Given the description of an element on the screen output the (x, y) to click on. 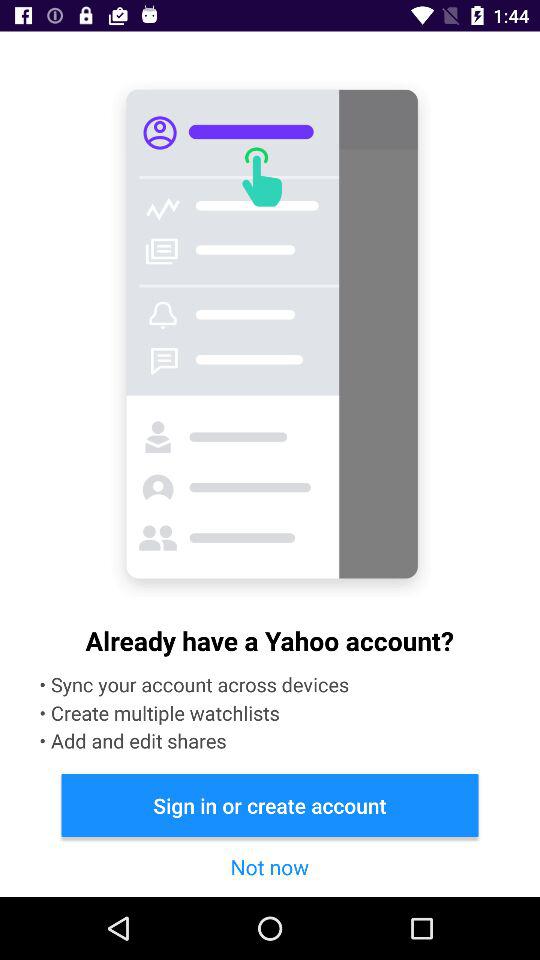
swipe until not now icon (269, 866)
